Given the description of an element on the screen output the (x, y) to click on. 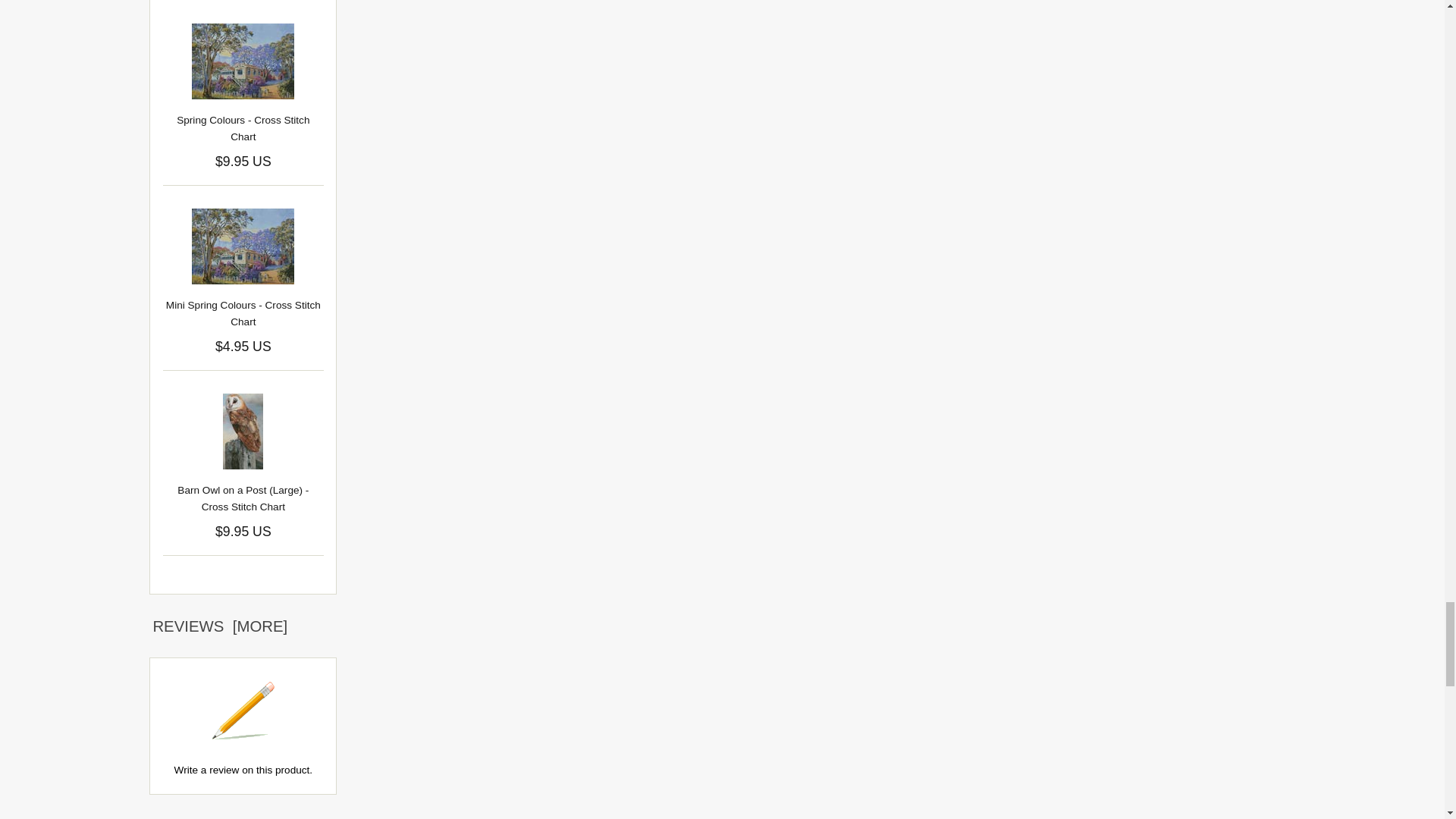
Mini Spring Colours - Cross Stitch Chart (243, 246)
Spring Colours - Cross Stitch Chart (243, 61)
Write a review on this product. (243, 711)
